Given the description of an element on the screen output the (x, y) to click on. 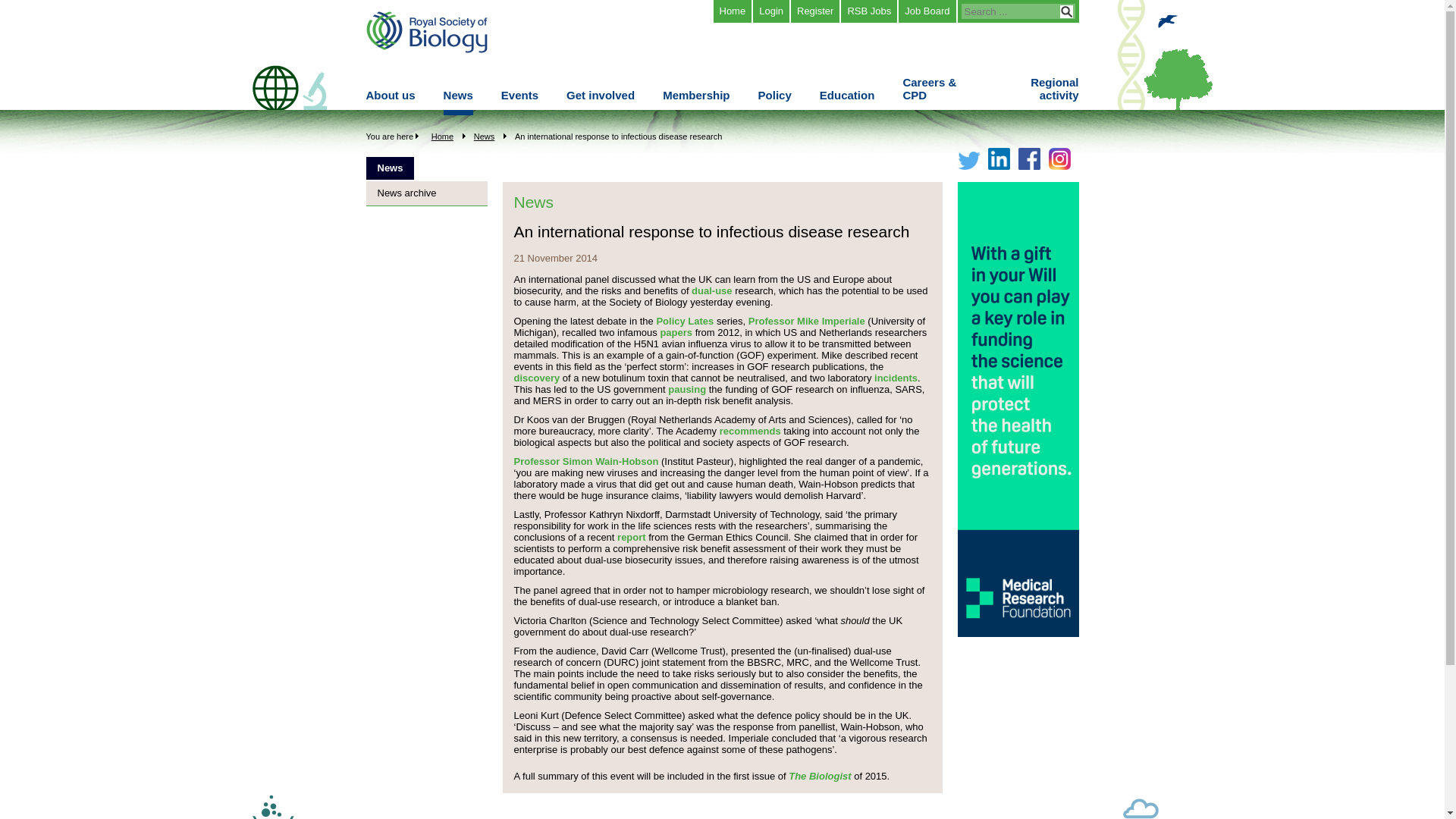
Home (732, 11)
Get involved (600, 101)
MRF Advert  (1017, 633)
RSB Jobs (868, 11)
Register (815, 11)
About us (389, 101)
Login (770, 11)
Events (519, 101)
News (458, 101)
Job Board (926, 11)
